Given the description of an element on the screen output the (x, y) to click on. 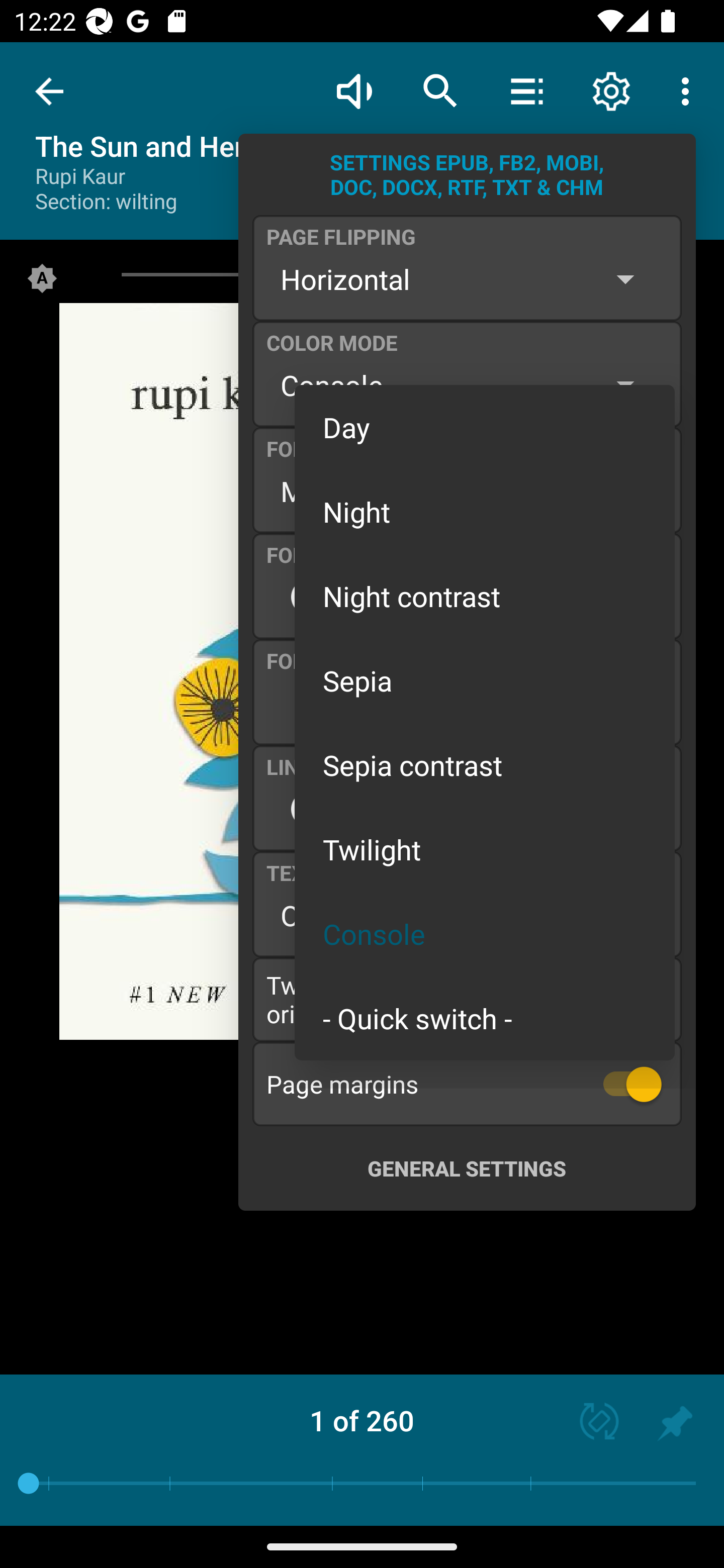
Day (484, 426)
Night (484, 510)
Night contrast (484, 595)
Sepia (484, 680)
Sepia contrast (484, 764)
Twilight (484, 849)
Console (484, 933)
- Quick switch - (484, 1017)
